Given the description of an element on the screen output the (x, y) to click on. 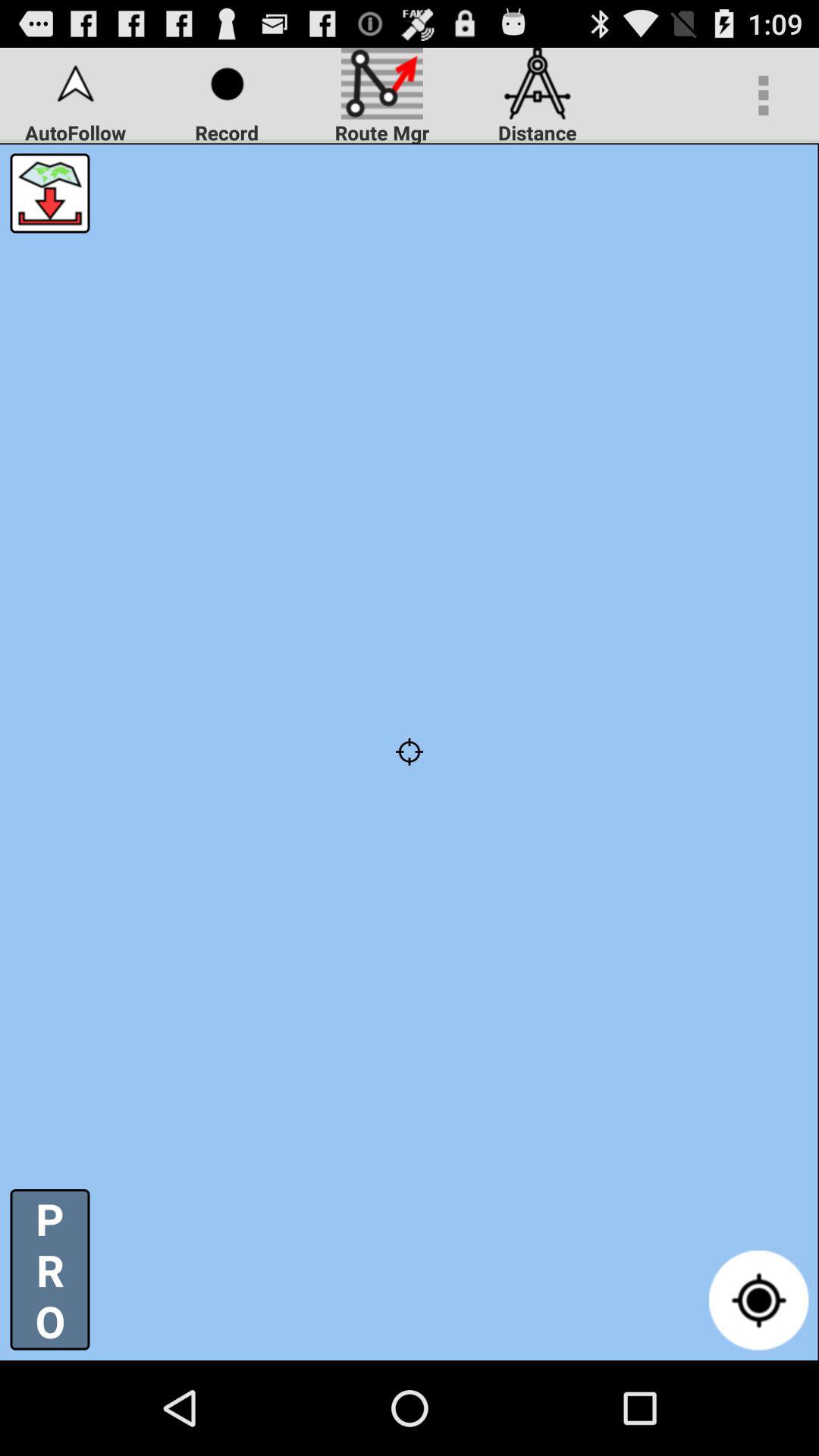
turn off icon below autofollow app (49, 193)
